Given the description of an element on the screen output the (x, y) to click on. 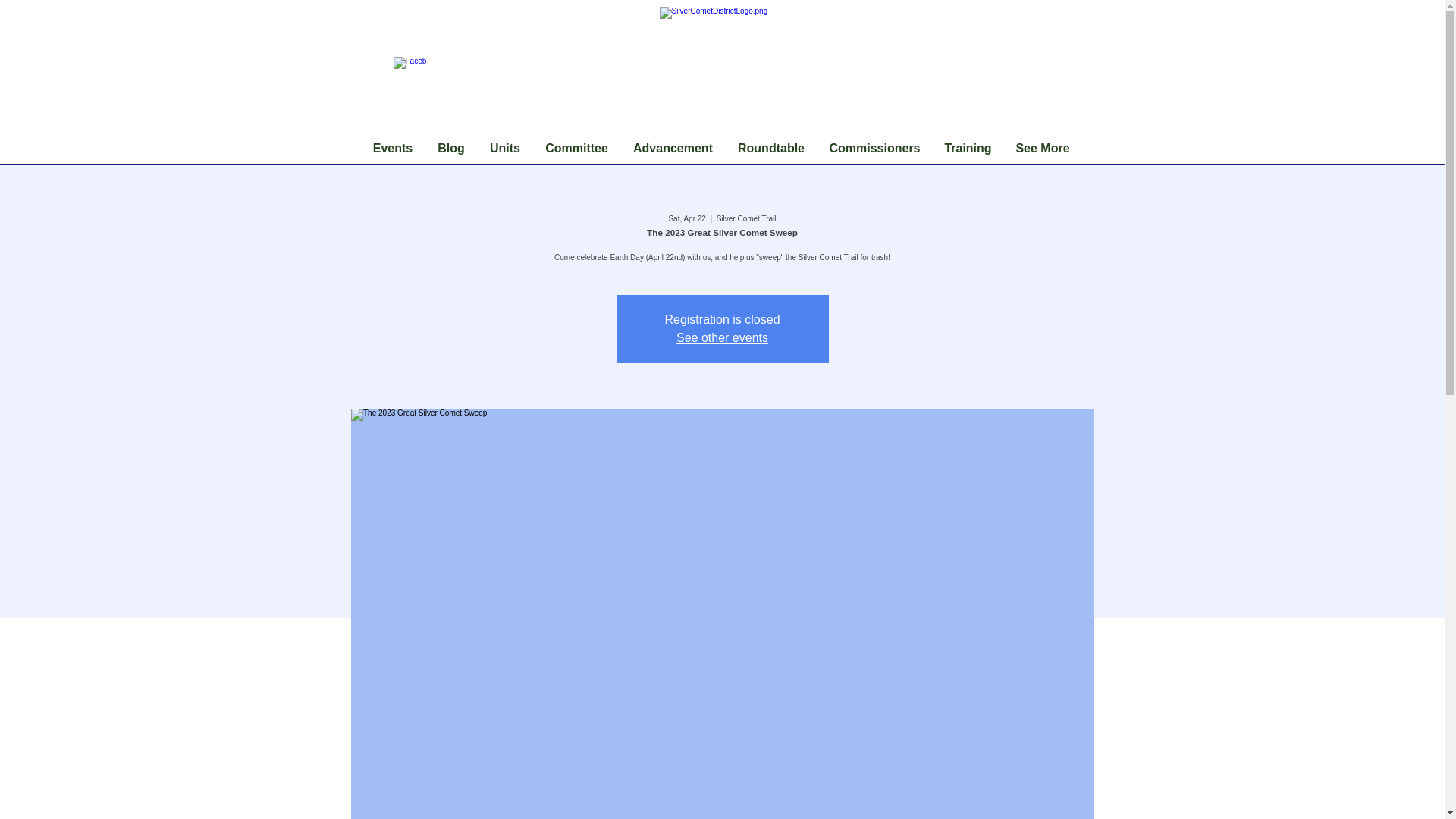
Events (393, 148)
Committee (576, 148)
Roundtable (770, 148)
Commissioners (874, 148)
Blog (451, 148)
Units (504, 148)
Training (968, 148)
Advancement (672, 148)
See other events (722, 337)
